Given the description of an element on the screen output the (x, y) to click on. 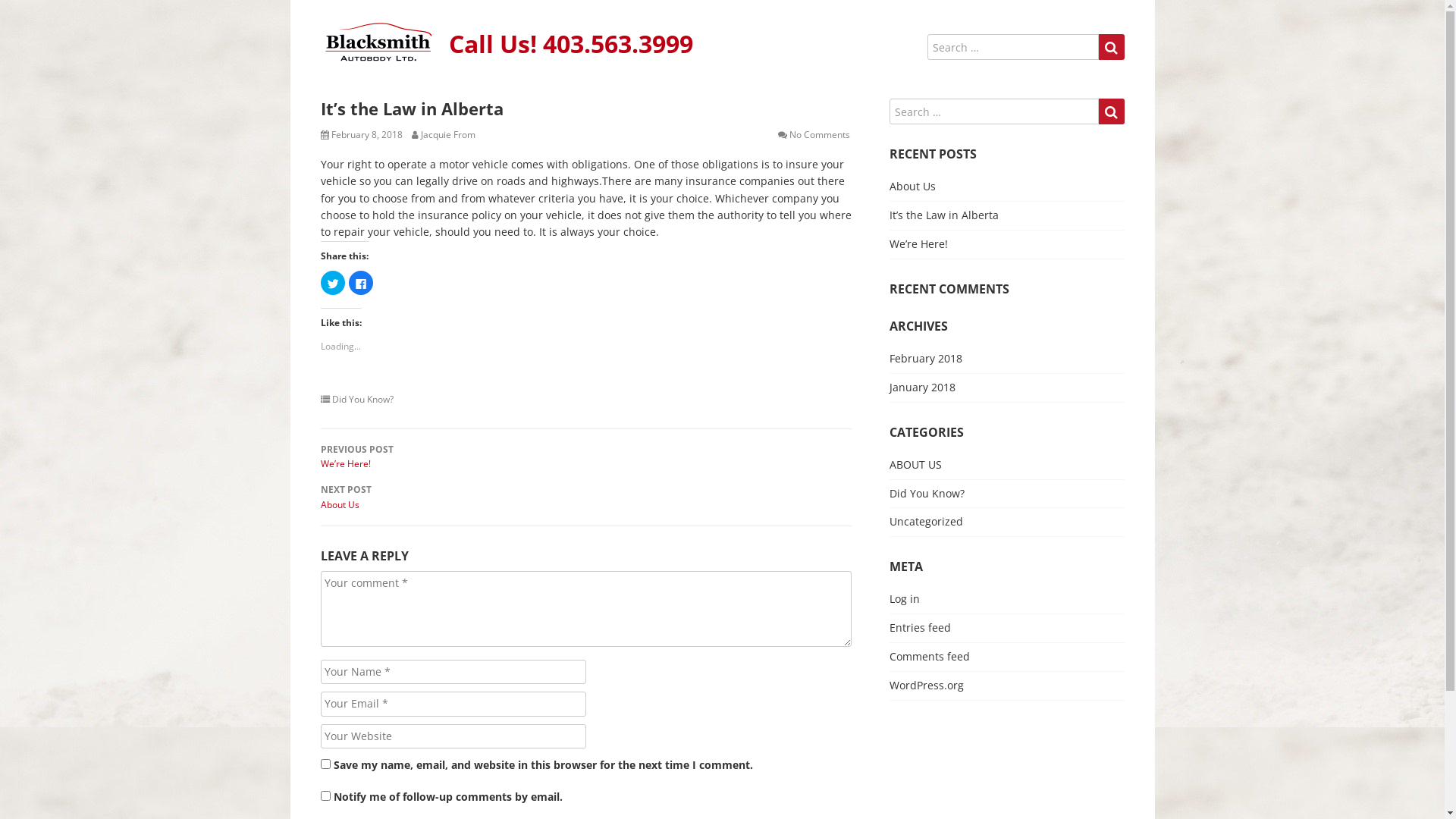
WordPress.org Element type: text (925, 684)
Uncategorized Element type: text (925, 521)
About Us Element type: text (911, 185)
Call Us! 403.563.3999 Element type: text (570, 43)
Entries feed Element type: text (919, 627)
Log in Element type: text (903, 598)
Did You Know? Element type: text (362, 398)
Click to share on Facebook (Opens in new window) Element type: text (360, 282)
February 2018 Element type: text (924, 358)
January 2018 Element type: text (921, 386)
Did You Know? Element type: text (925, 493)
No Comments Element type: text (818, 134)
NEXT POST
About Us Element type: text (585, 497)
ABOUT US Element type: text (914, 464)
Comments feed Element type: text (928, 656)
February 8, 2018 Element type: text (365, 134)
Jacquie From Element type: text (447, 134)
Click to share on Twitter (Opens in new window) Element type: text (332, 282)
